Given the description of an element on the screen output the (x, y) to click on. 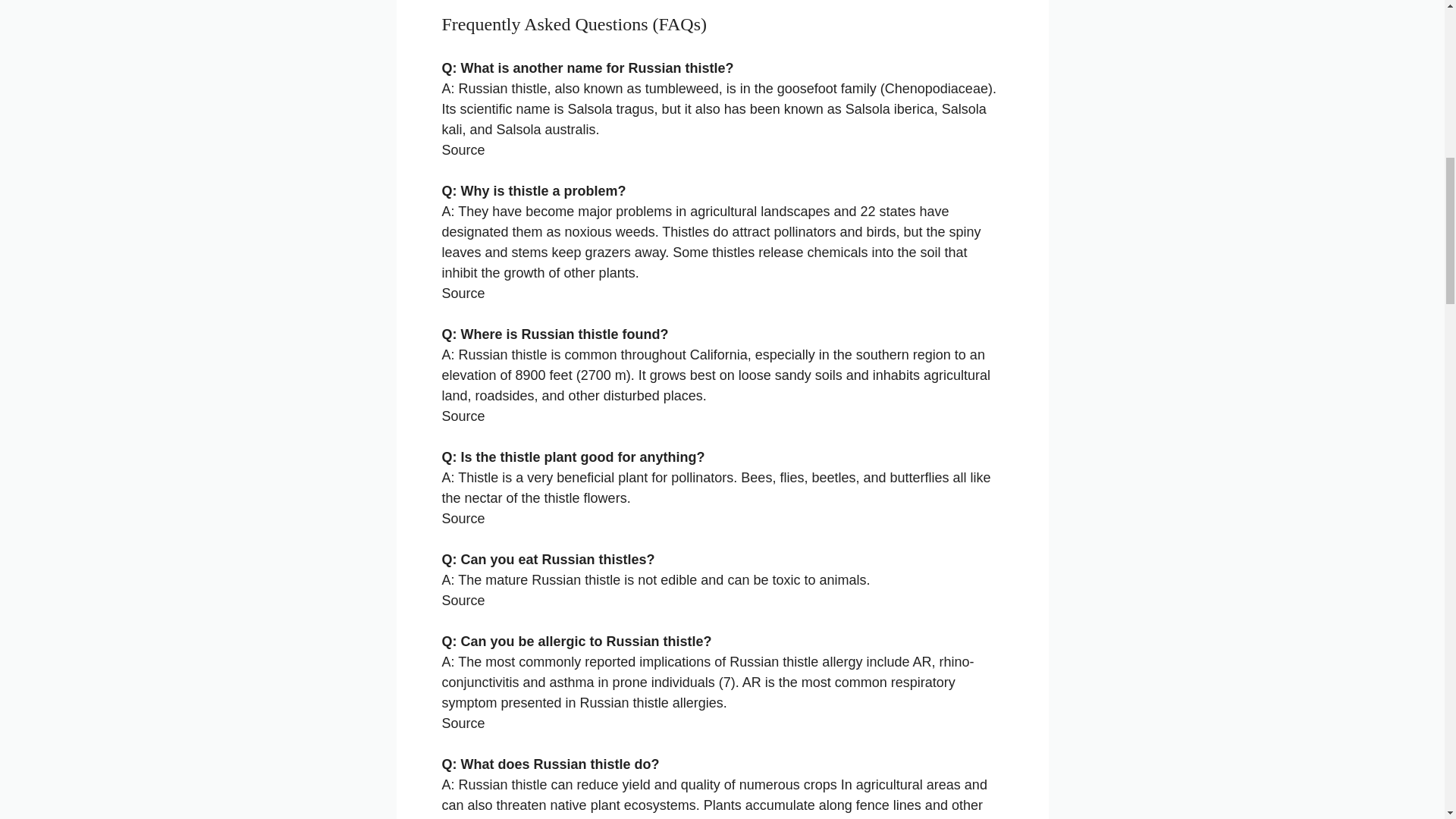
Source (462, 416)
Source (462, 150)
Source (462, 518)
Source (462, 600)
Source (462, 723)
Source (462, 293)
